Given the description of an element on the screen output the (x, y) to click on. 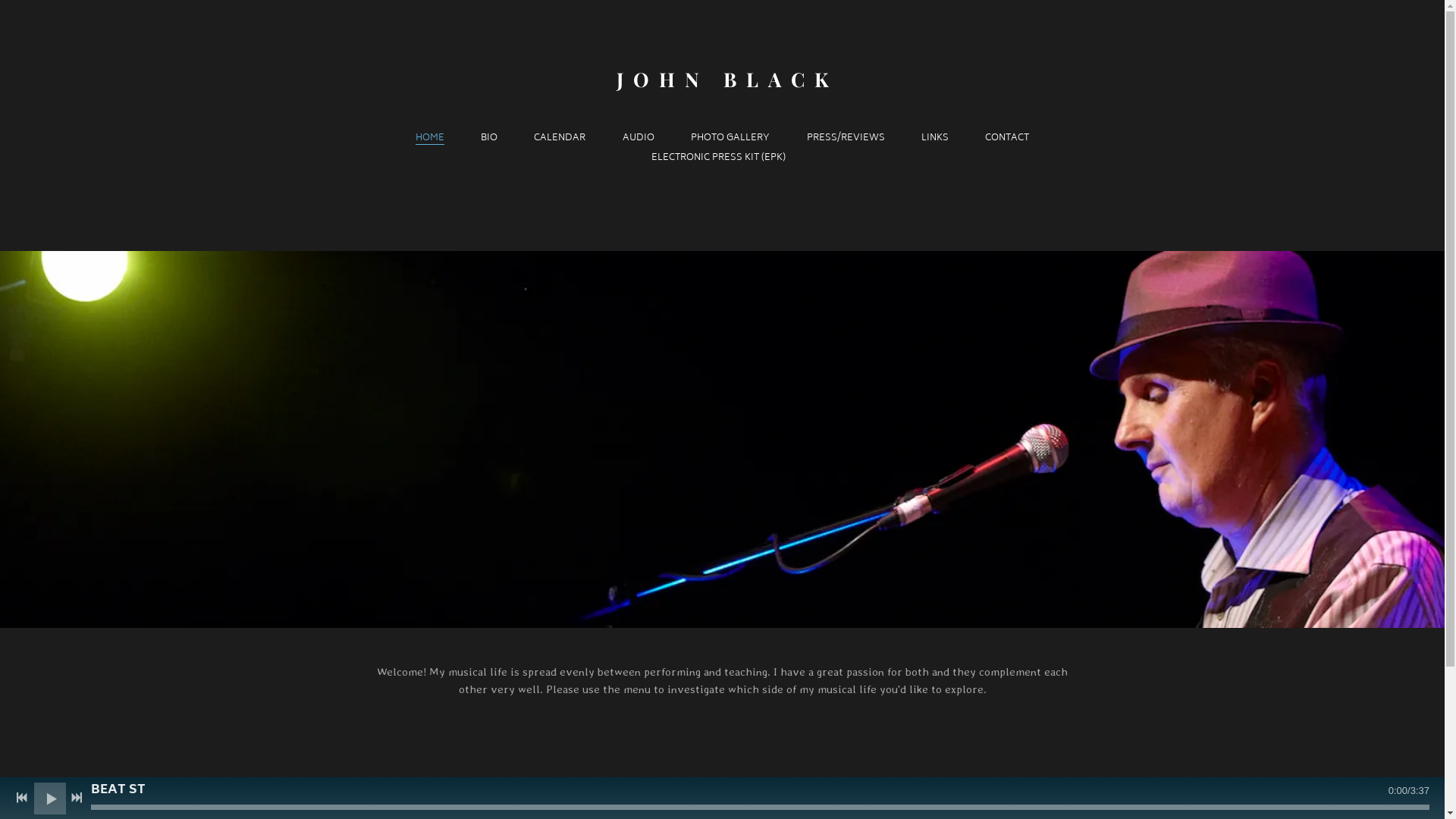
ELECTRONIC PRESS KIT (EPK) Element type: text (722, 158)
AUDIO Element type: text (638, 138)
HOME Element type: text (429, 138)
CONTACT Element type: text (1007, 138)
PRESS/REVIEWS Element type: text (845, 138)
Play Element type: hover (49, 797)
JOHN BLACK Element type: text (722, 80)
CALENDAR Element type: text (559, 138)
Next track Element type: hover (76, 797)
Previous track Element type: hover (21, 797)
BIO Element type: text (488, 138)
LINKS Element type: text (934, 138)
PHOTO GALLERY Element type: text (729, 138)
